Given the description of an element on the screen output the (x, y) to click on. 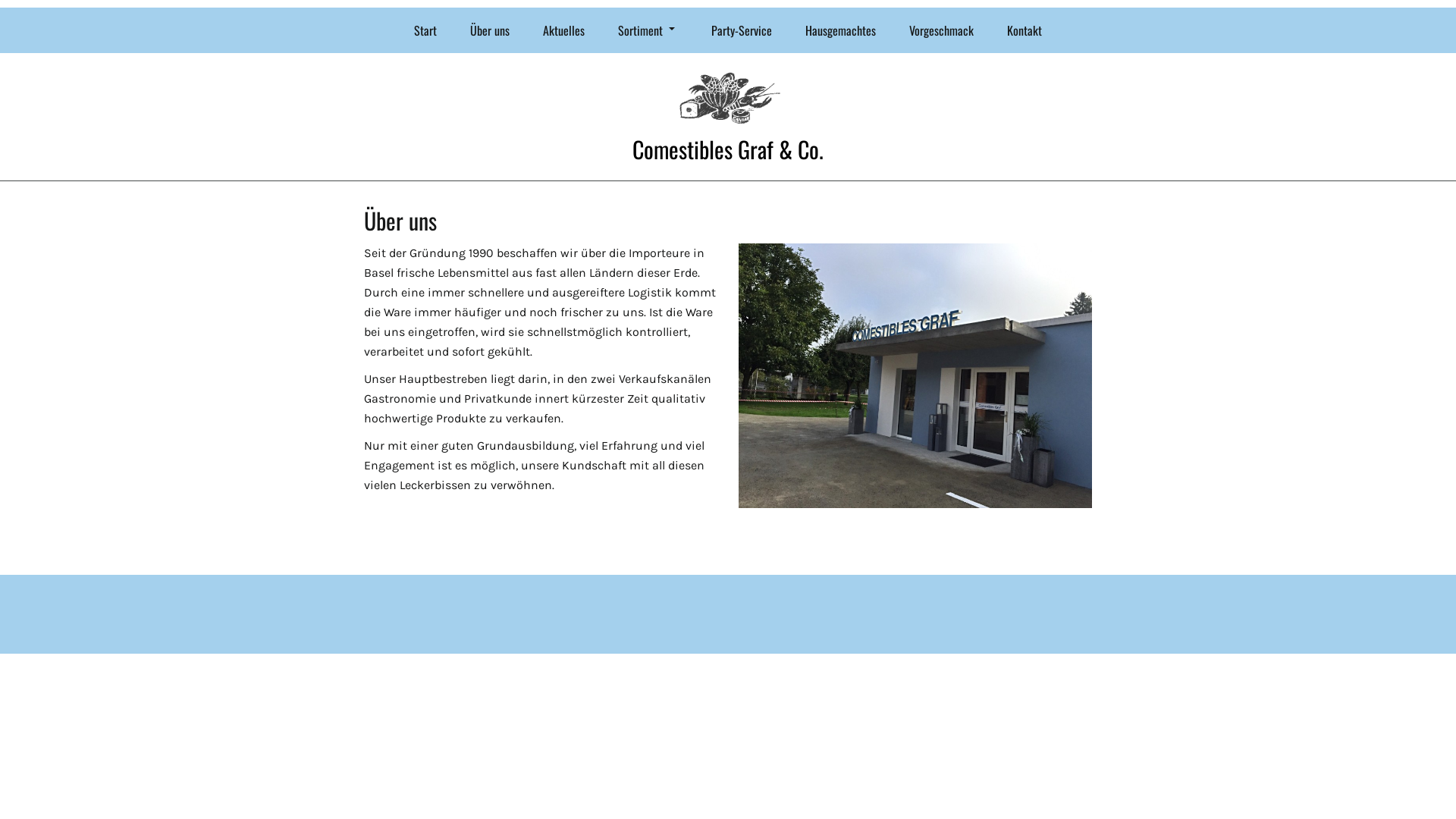
Party-Service Element type: text (741, 30)
Vorgeschmack Element type: text (941, 30)
Aktuelles Element type: text (563, 30)
Comestibles Graf & Co. Element type: text (727, 148)
Start Element type: text (424, 30)
Kontakt Element type: text (1024, 30)
Hausgemachtes Element type: text (840, 30)
